Given the description of an element on the screen output the (x, y) to click on. 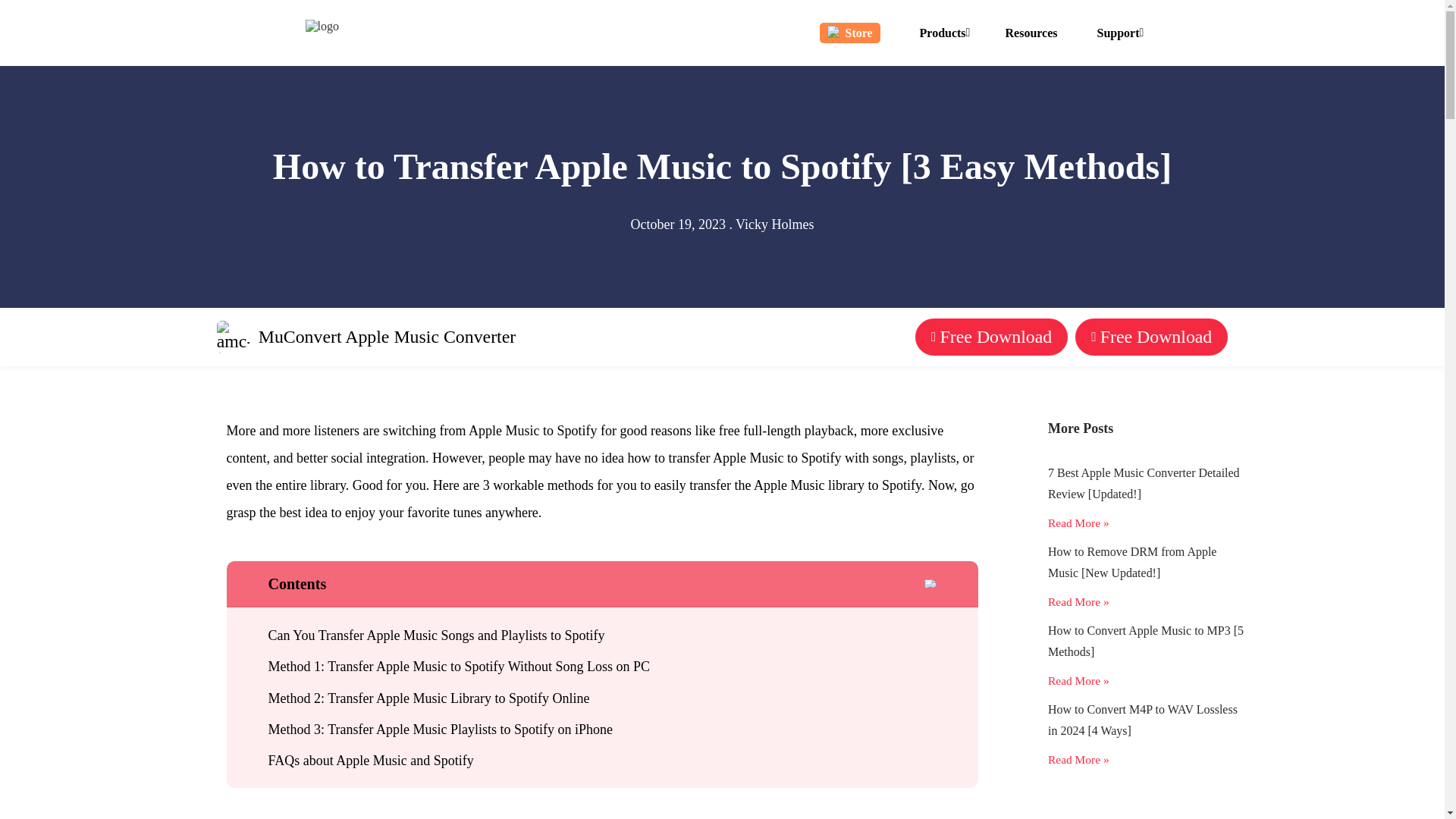
FAQs about Apple Music and Spotify (598, 761)
Method 2: Transfer Apple Music Library to Spotify Online (598, 698)
Resources (1032, 32)
Store (849, 32)
Support (1118, 32)
Can You Transfer Apple Music Songs and Playlists to Spotify (598, 635)
Products (943, 32)
Free Download (1151, 336)
Free Download (991, 336)
